Given the description of an element on the screen output the (x, y) to click on. 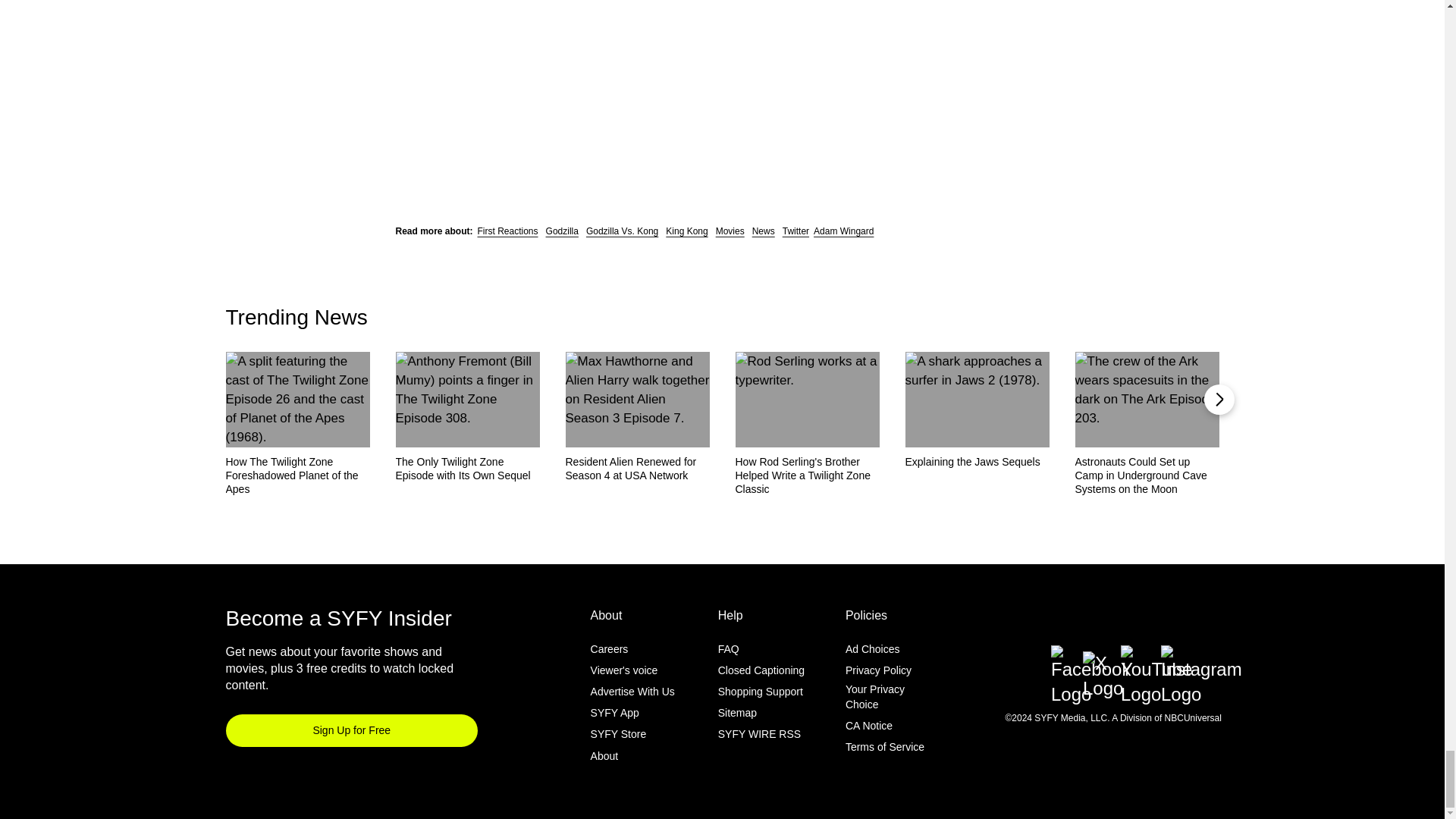
Advertise With Us (633, 692)
